Given the description of an element on the screen output the (x, y) to click on. 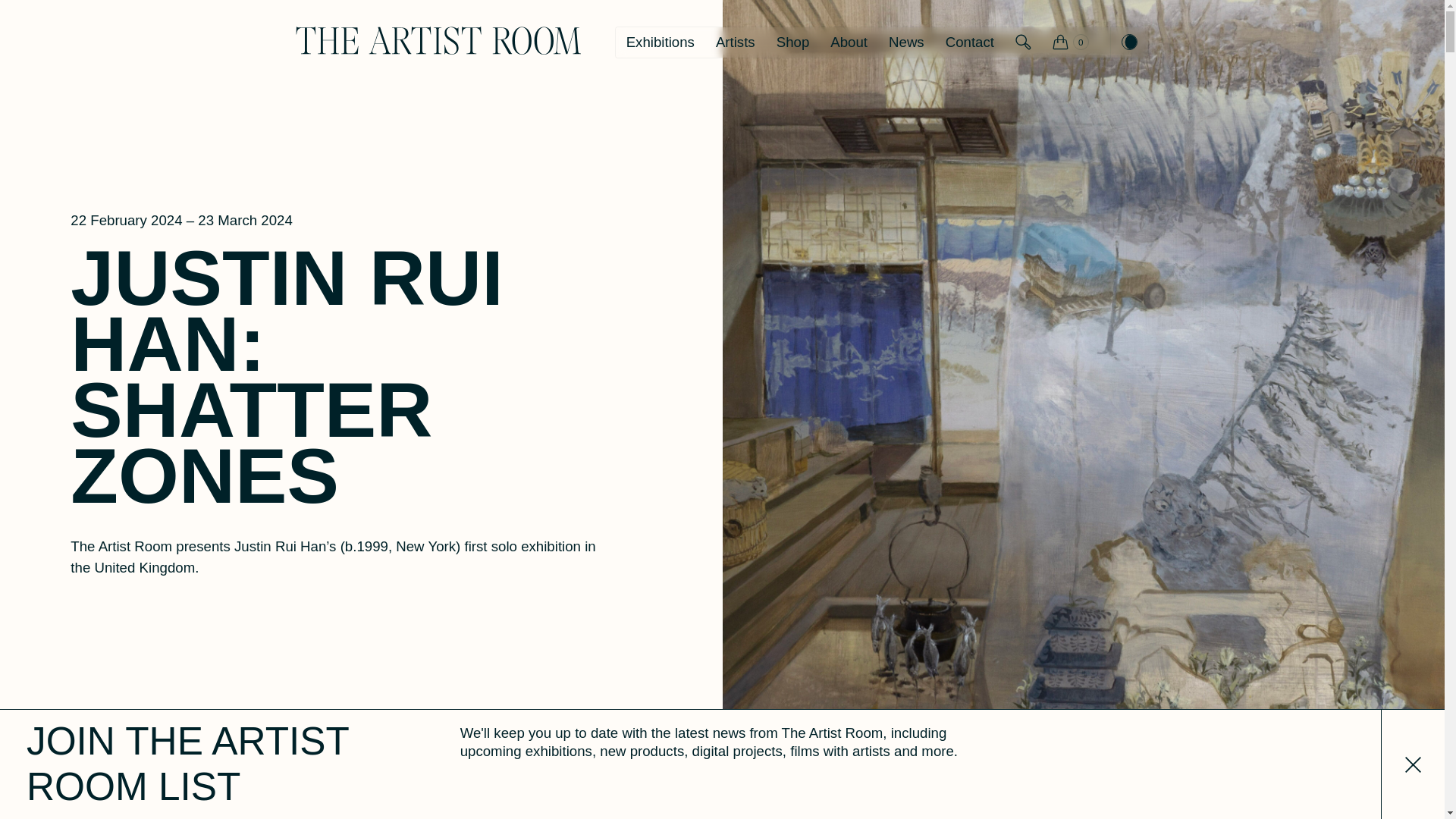
0 (1070, 31)
News (905, 42)
About (848, 42)
Artists (734, 42)
Exhibitions (659, 42)
Shop (793, 42)
Contact (969, 42)
